Given the description of an element on the screen output the (x, y) to click on. 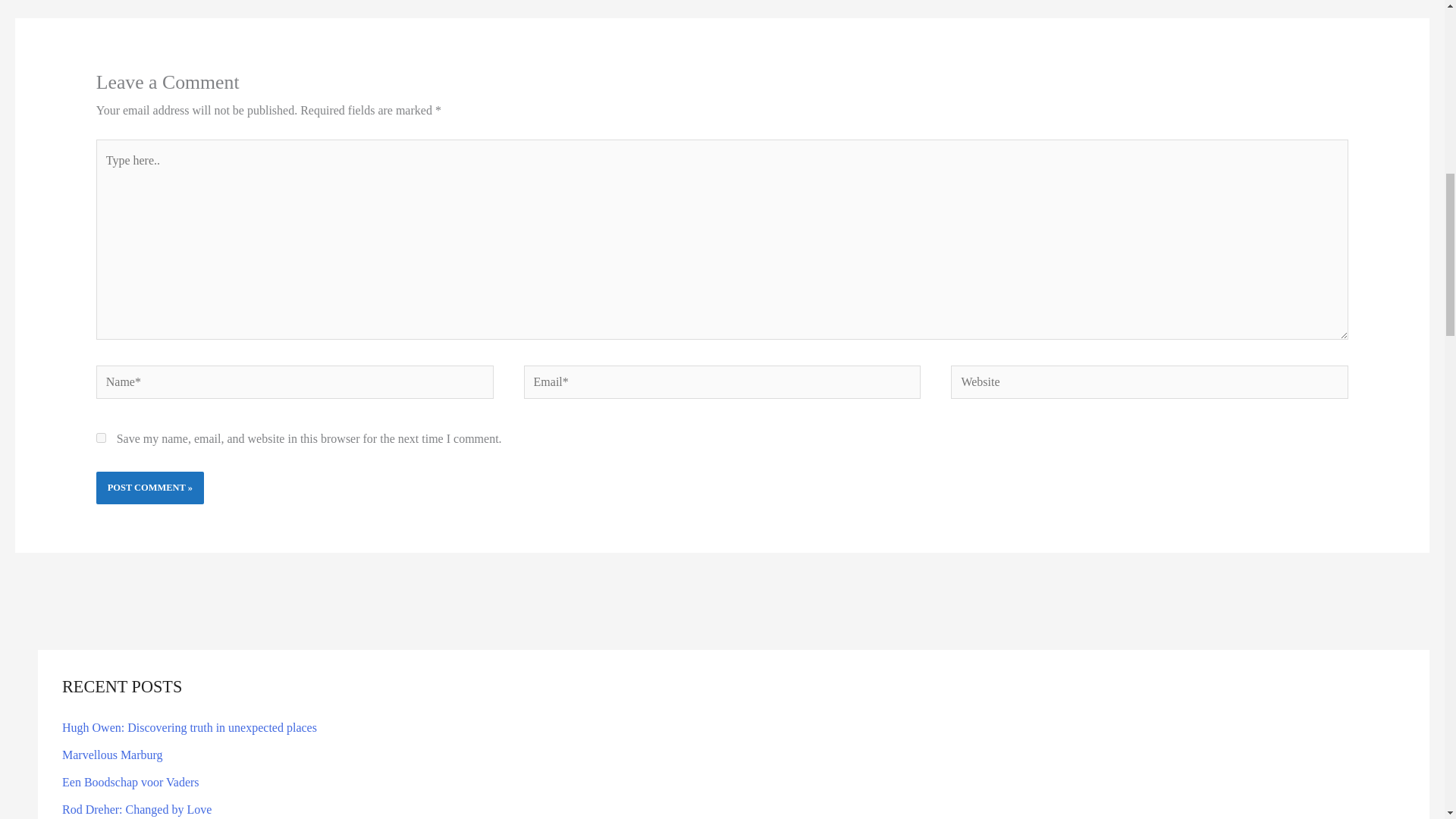
Hugh Owen: Discovering truth in unexpected places (189, 727)
Rod Dreher: Changed by Love (136, 809)
Marvellous Marburg (112, 754)
Een Boodschap voor Vaders (130, 781)
yes (101, 438)
